Given the description of an element on the screen output the (x, y) to click on. 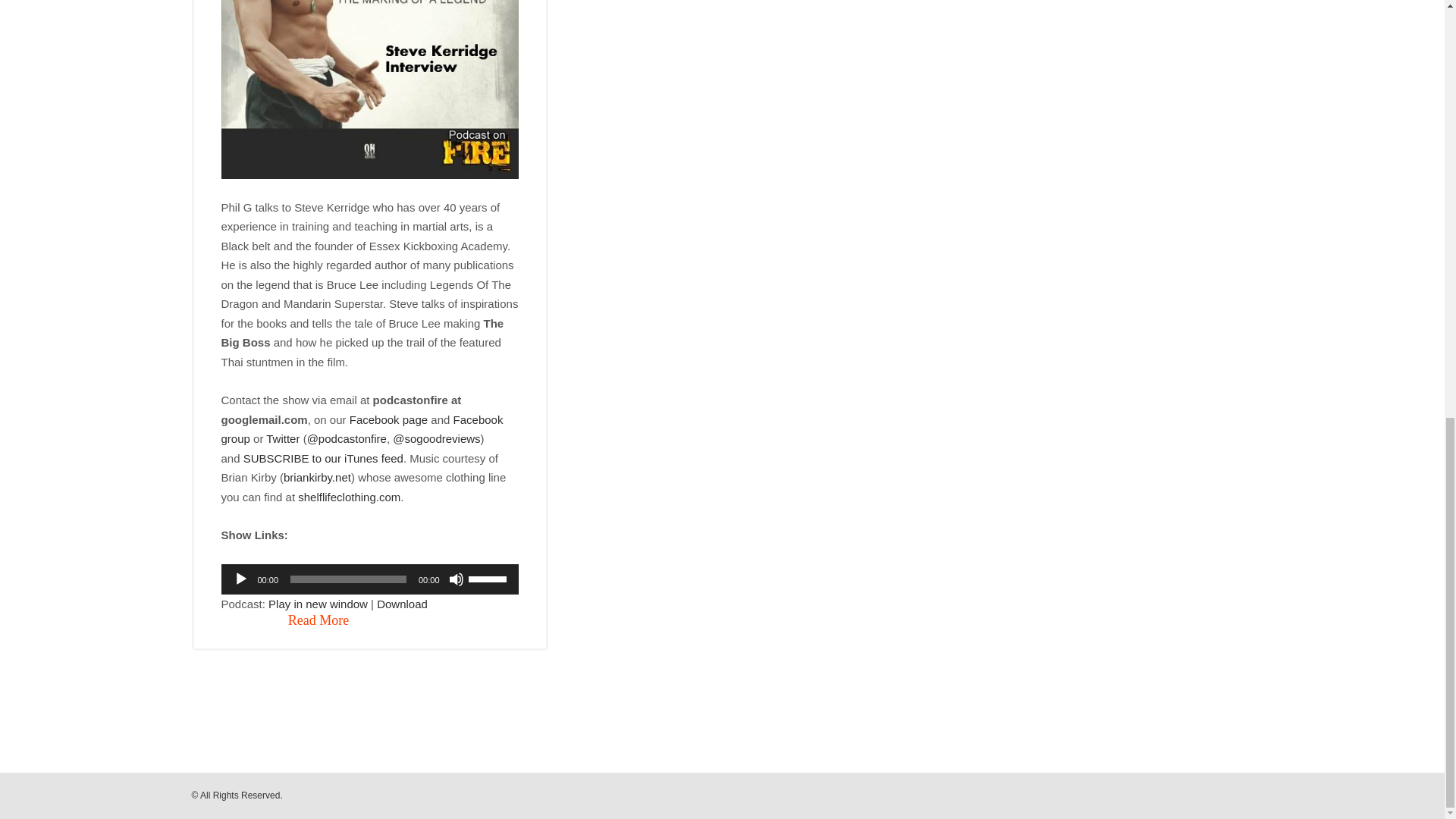
Read More (318, 621)
Facebook page (388, 419)
Download (402, 603)
shelflifeclothing.com (349, 496)
Mute (456, 579)
Play in new window (317, 603)
Facebook group (362, 429)
Twitter (282, 438)
Play in new window (317, 603)
briankirby.net (316, 477)
Download (402, 603)
Play (240, 579)
SUBSCRIBE to our iTunes feed (323, 458)
